Given the description of an element on the screen output the (x, y) to click on. 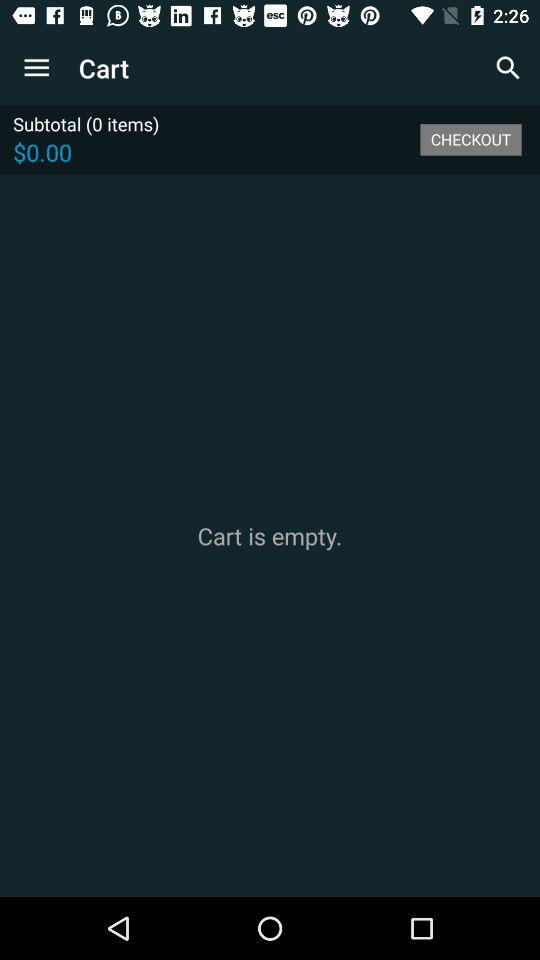
flip until the checkout (470, 139)
